Given the description of an element on the screen output the (x, y) to click on. 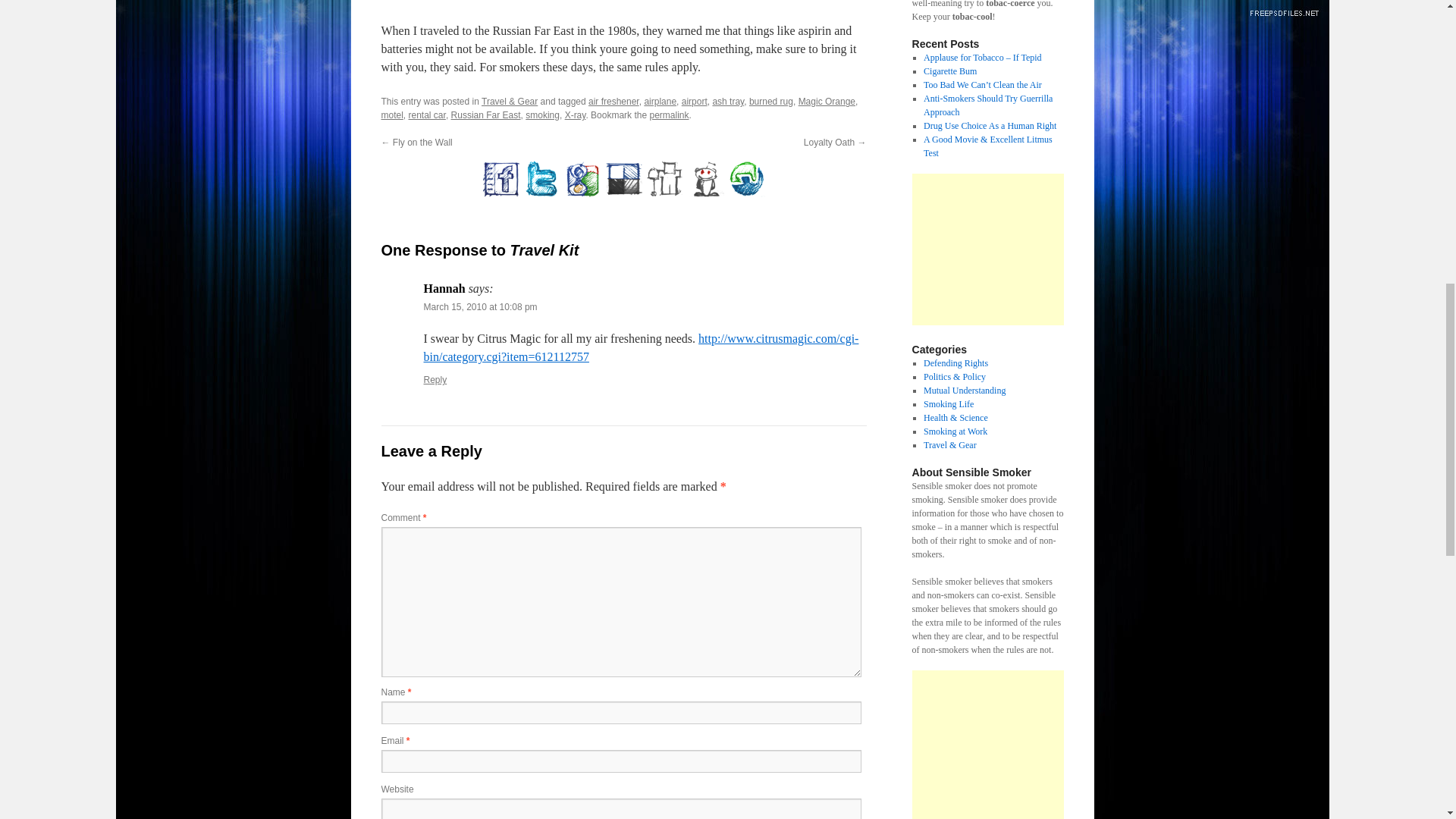
Google (581, 178)
motel (391, 114)
March 15, 2010 at 10:08 pm (480, 307)
rental car (427, 114)
Reddit (705, 178)
Facebook (499, 178)
airport (694, 101)
Advertisement (986, 249)
StumbleUpon (746, 178)
smoking (542, 114)
